Given the description of an element on the screen output the (x, y) to click on. 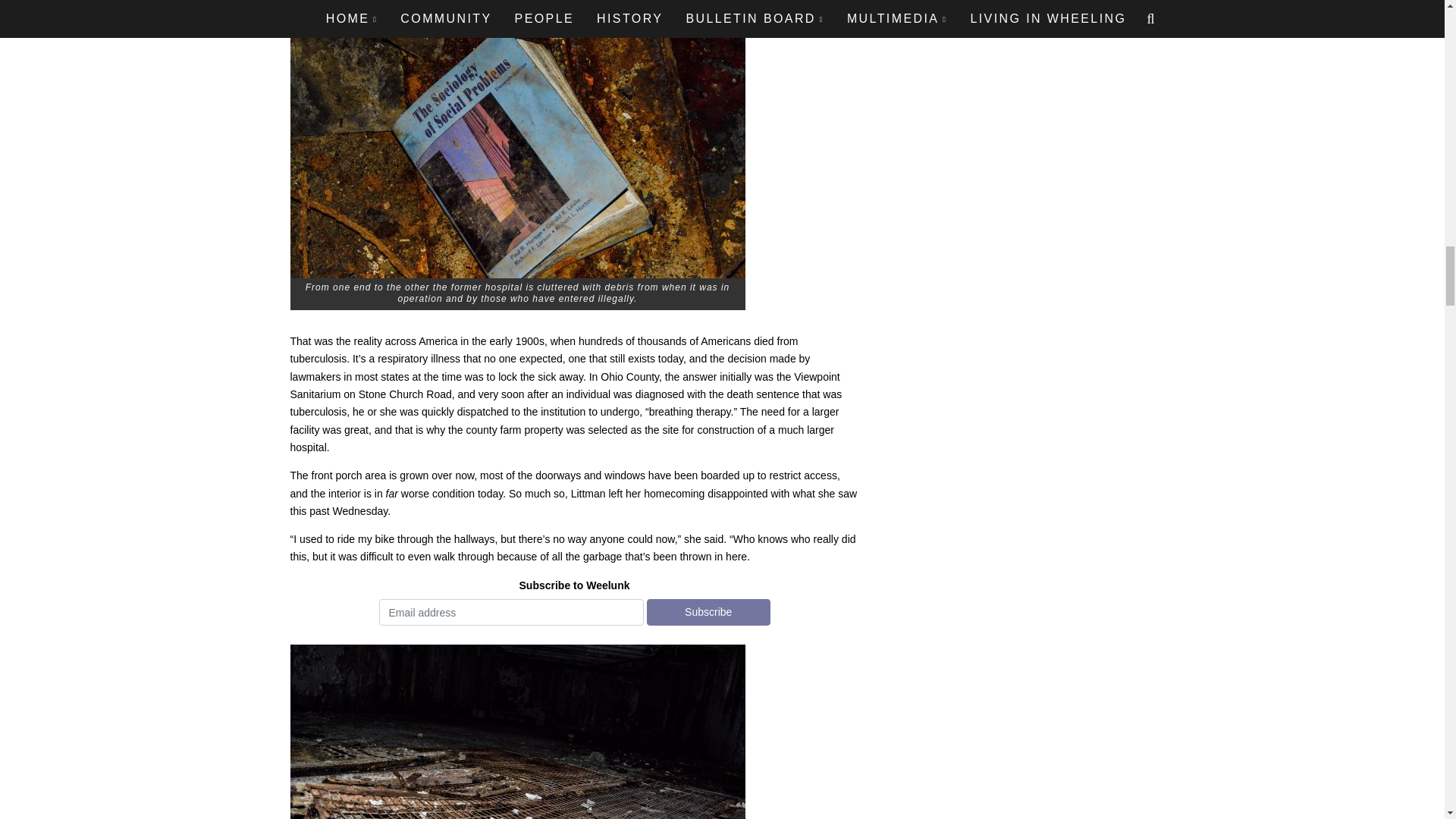
Subscribe (708, 611)
